Given the description of an element on the screen output the (x, y) to click on. 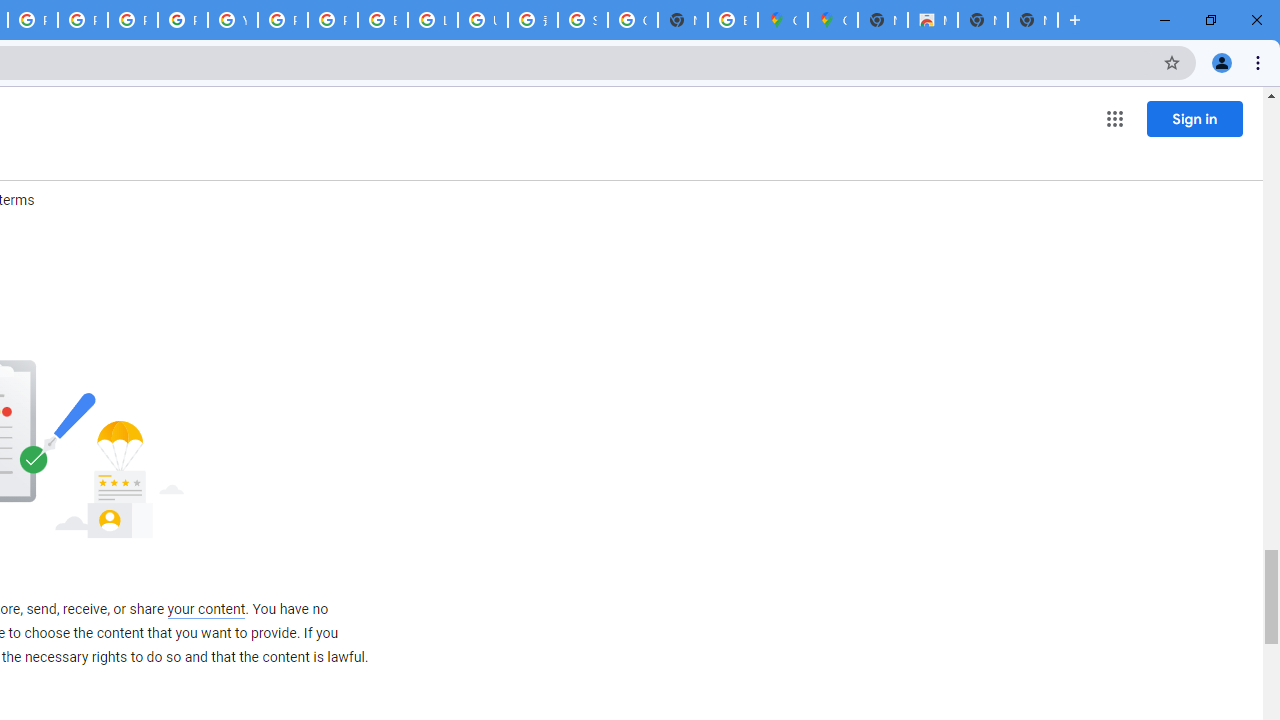
Google Maps (782, 20)
Close (1256, 20)
Browse Chrome as a guest - Computer - Google Chrome Help (383, 20)
Minimize (1165, 20)
Explore new street-level details - Google Maps Help (732, 20)
Privacy Help Center - Policies Help (132, 20)
your content (205, 609)
New Tab (1032, 20)
Restore (1210, 20)
